Given the description of an element on the screen output the (x, y) to click on. 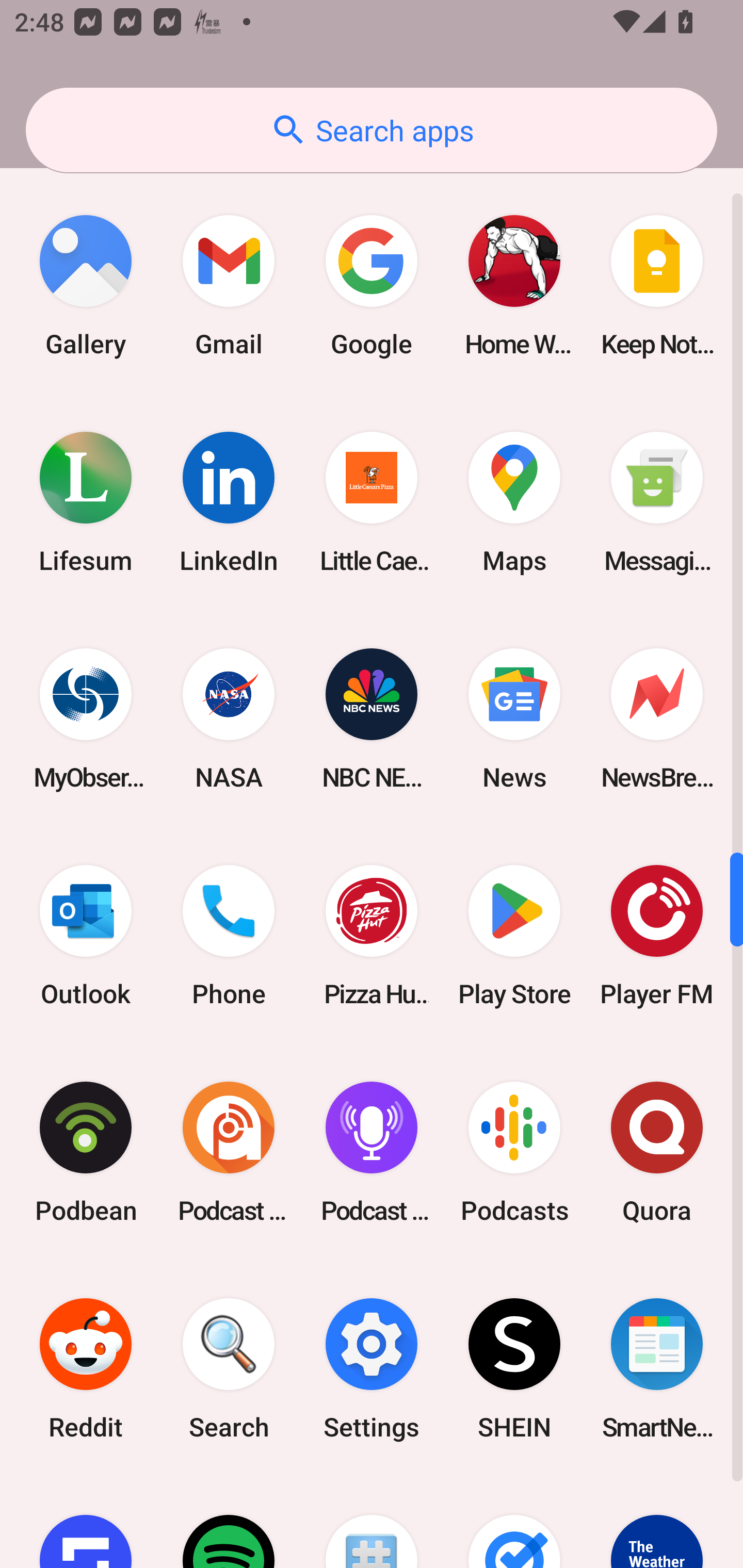
  Search apps (371, 130)
Gallery (85, 285)
Gmail (228, 285)
Google (371, 285)
Home Workout (514, 285)
Keep Notes (656, 285)
Lifesum (85, 501)
LinkedIn (228, 501)
Little Caesars Pizza (371, 501)
Maps (514, 501)
Messaging (656, 501)
MyObservatory (85, 718)
NASA (228, 718)
NBC NEWS (371, 718)
News (514, 718)
NewsBreak (656, 718)
Outlook (85, 935)
Phone (228, 935)
Pizza Hut HK & Macau (371, 935)
Play Store (514, 935)
Player FM (656, 935)
Podbean (85, 1152)
Podcast Addict (228, 1152)
Podcast Player (371, 1152)
Podcasts (514, 1152)
Quora (656, 1152)
Reddit (85, 1368)
Search (228, 1368)
Settings (371, 1368)
SHEIN (514, 1368)
SmartNews (656, 1368)
